Given the description of an element on the screen output the (x, y) to click on. 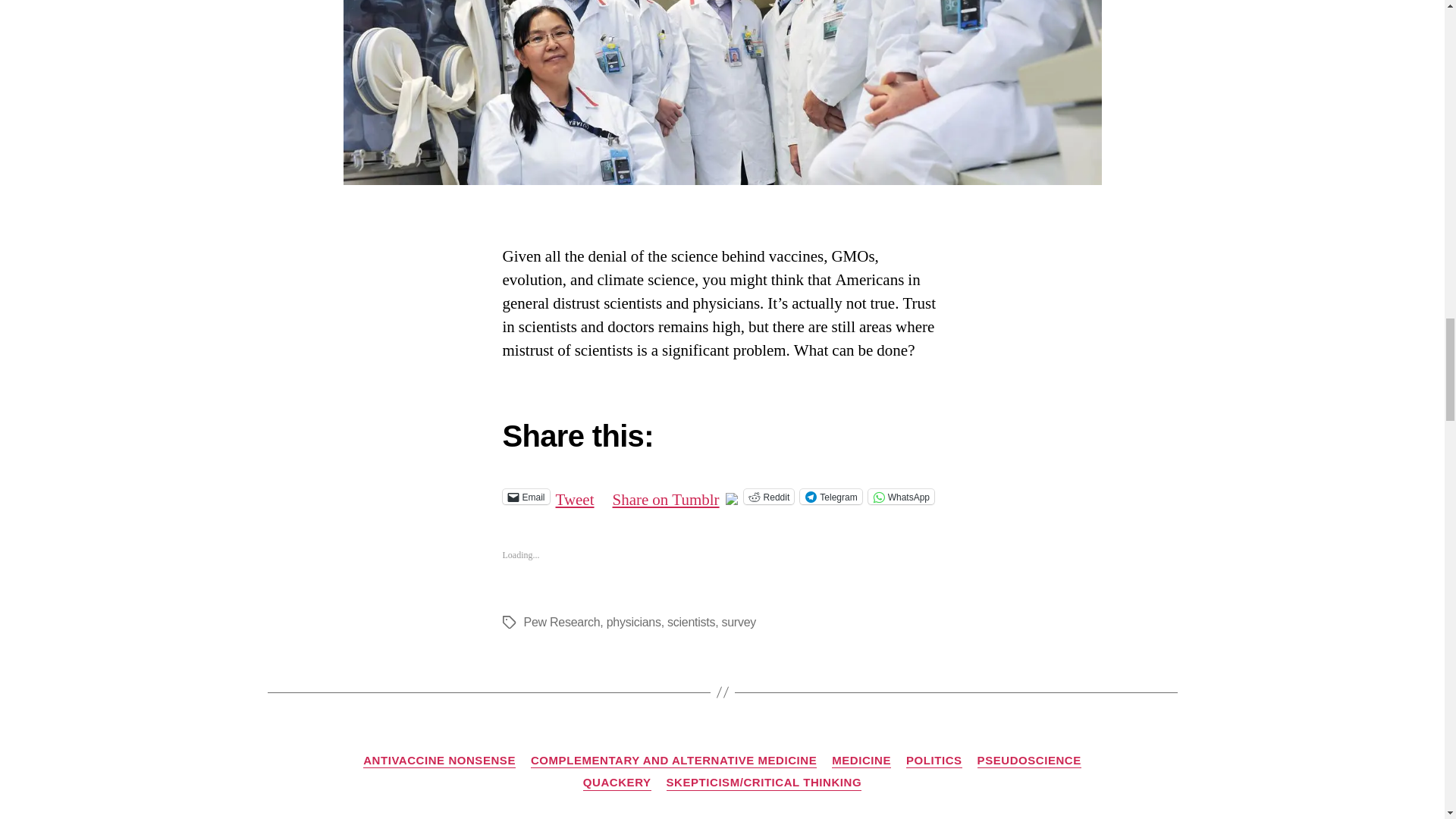
Click to share on Telegram (830, 496)
Click to share on WhatsApp (900, 496)
Click to share on Reddit (769, 496)
Click to email a link to a friend (525, 496)
Share on Tumblr (665, 495)
